Given the description of an element on the screen output the (x, y) to click on. 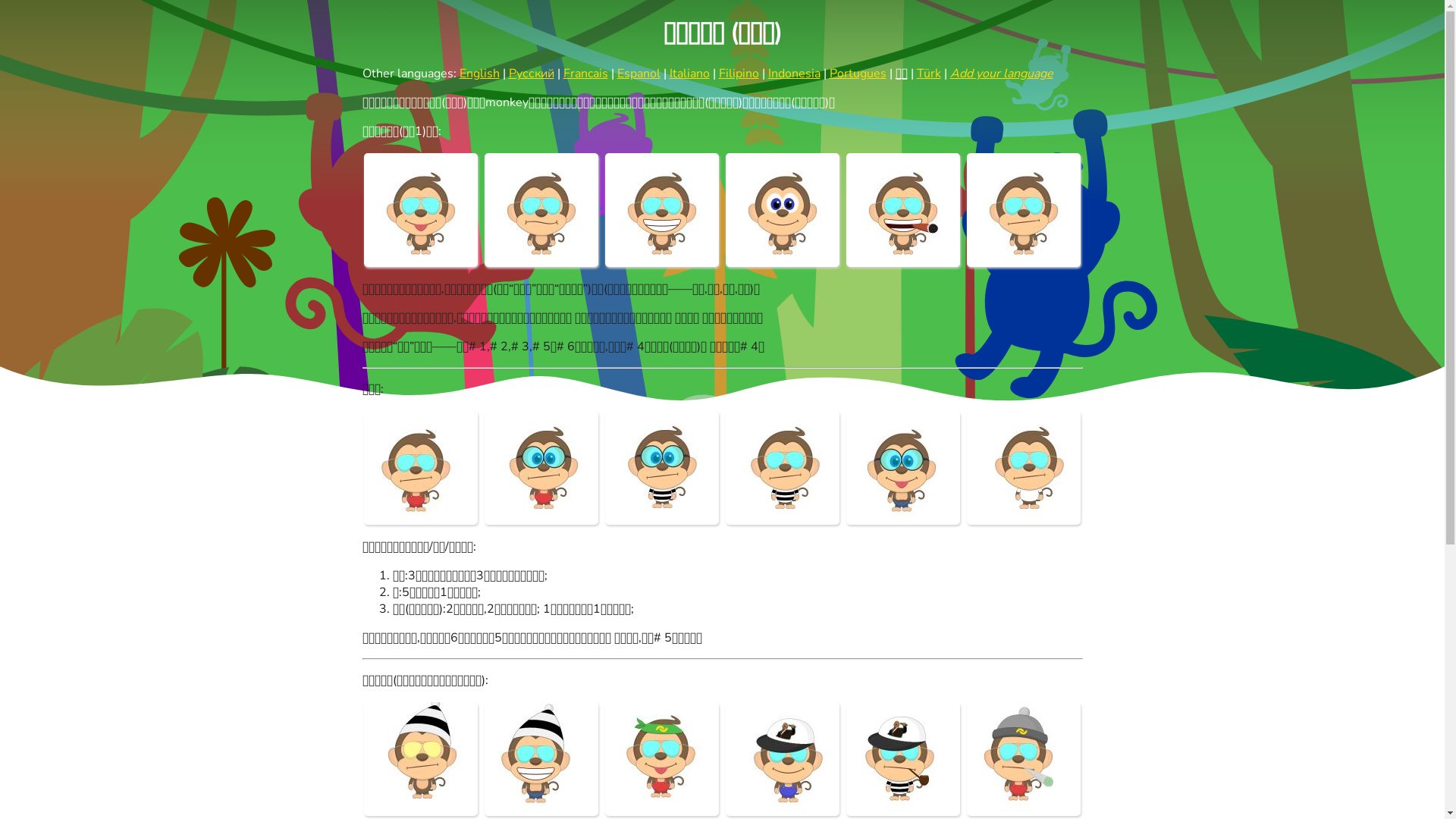
English Element type: text (479, 73)
Portugues Element type: text (857, 73)
Indonesia Element type: text (793, 73)
Filipino Element type: text (738, 73)
Add your language Element type: text (1000, 73)
Italiano Element type: text (688, 73)
Espanol Element type: text (638, 73)
Francais Element type: text (584, 73)
